Given the description of an element on the screen output the (x, y) to click on. 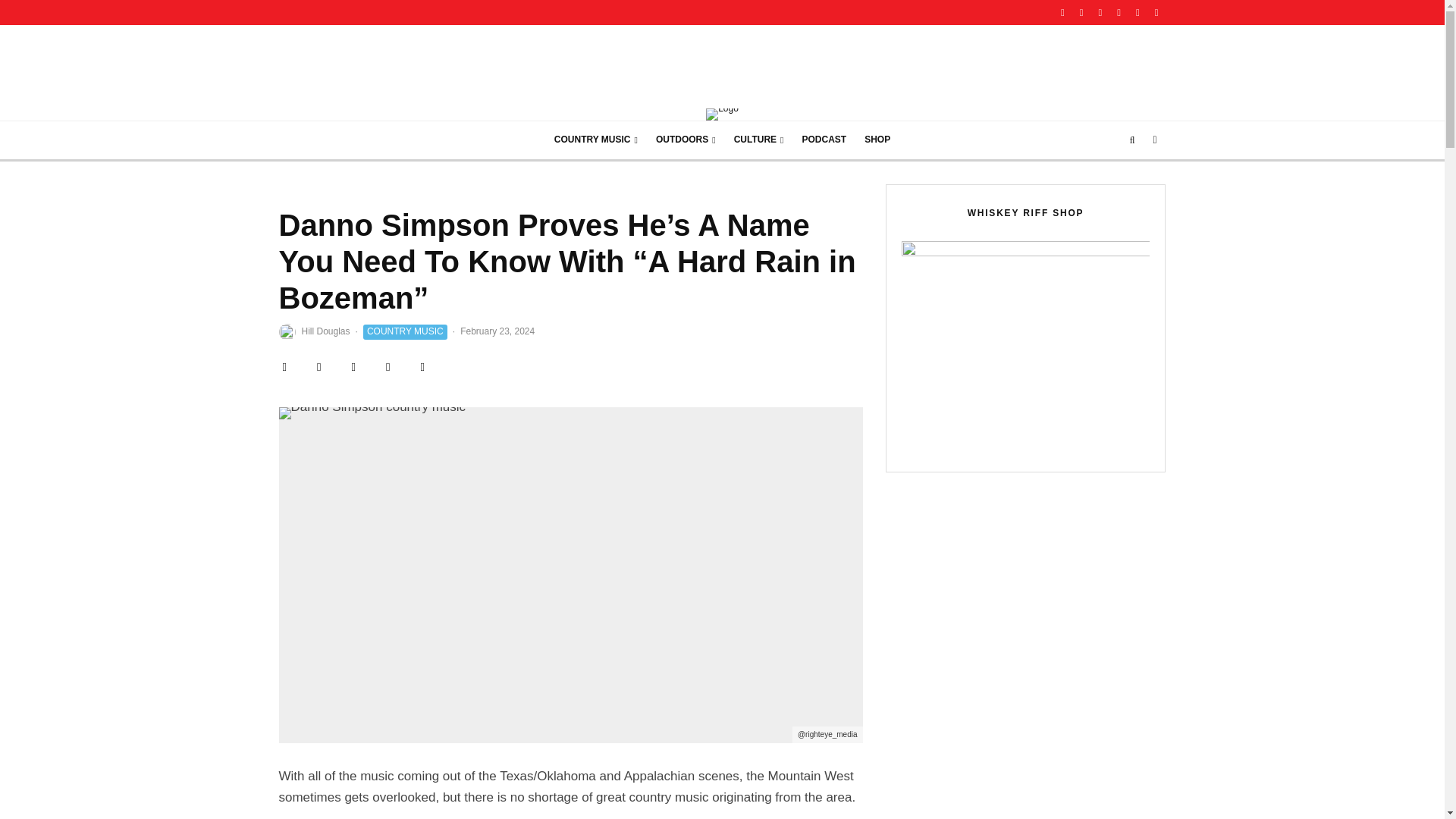
CULTURE (759, 139)
OUTDOORS (685, 139)
COUNTRY MUSIC (595, 139)
